Given the description of an element on the screen output the (x, y) to click on. 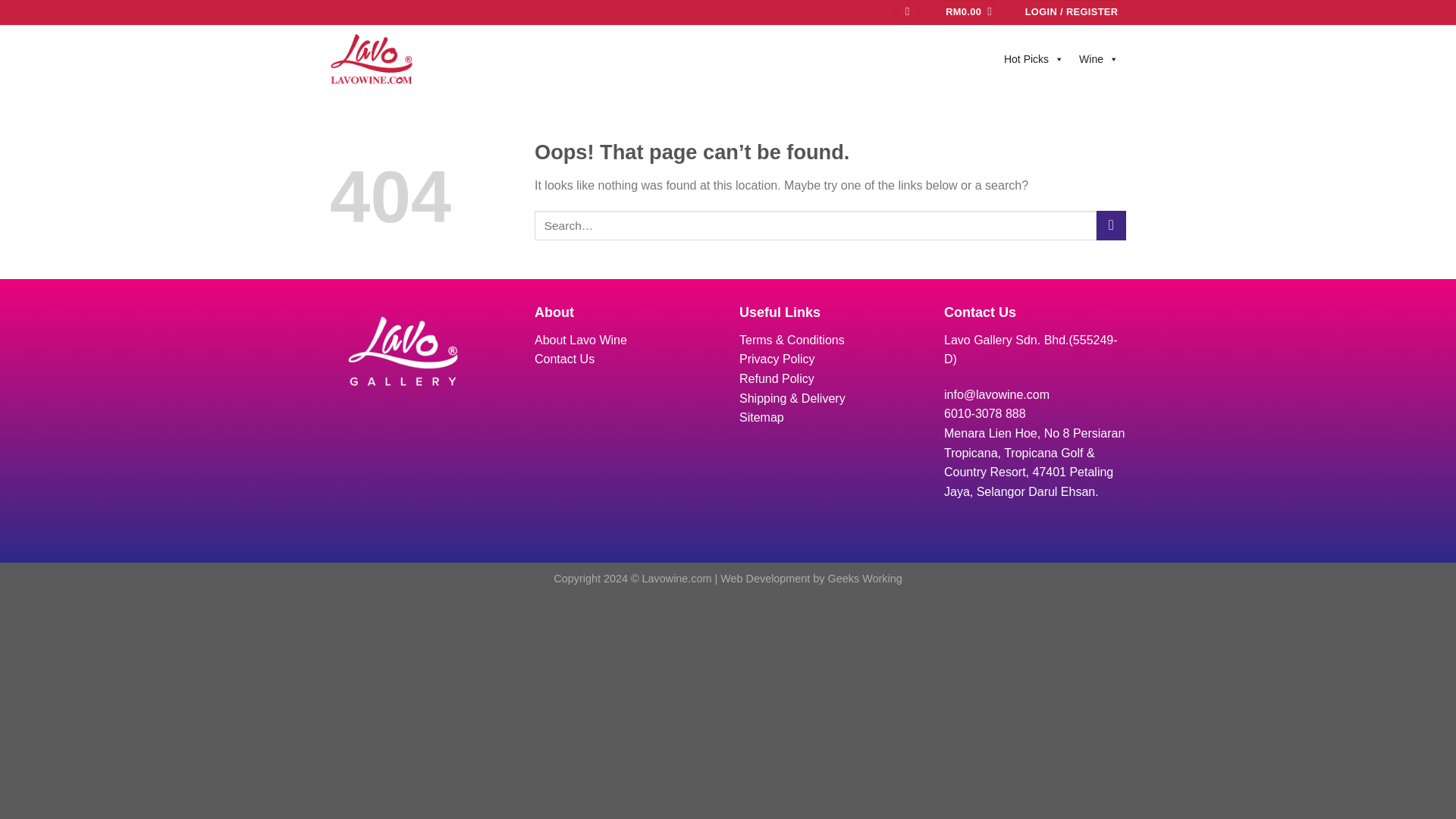
Lavo Wine (405, 59)
RM0.00 (968, 12)
Hot Picks (1033, 59)
Wine (1098, 59)
Cart (968, 12)
